Given the description of an element on the screen output the (x, y) to click on. 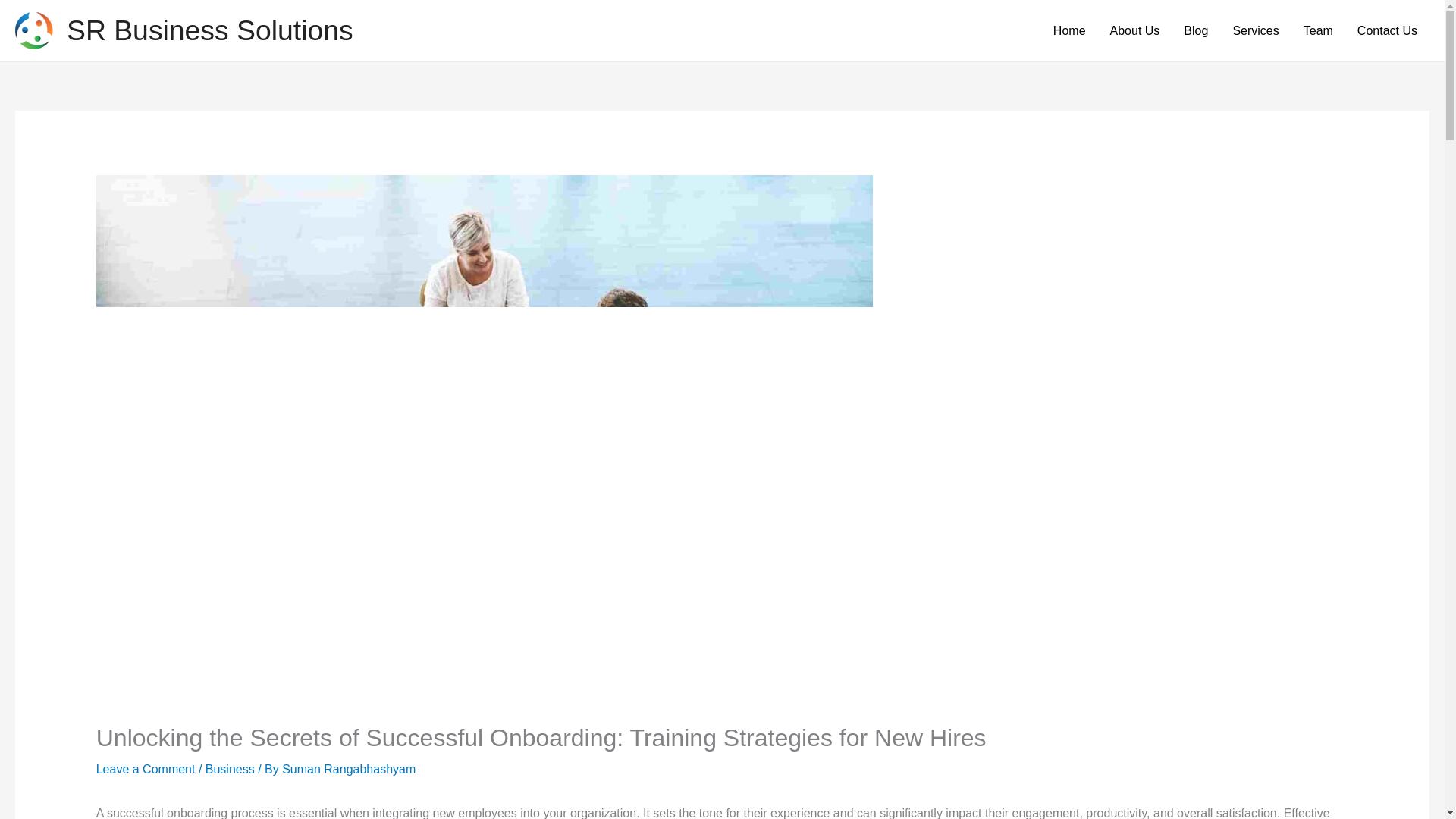
Contact Us (1387, 30)
Team (1318, 30)
SR Business Solutions (209, 29)
Blog (1196, 30)
About Us (1134, 30)
View all posts by Suman Rangabhashyam (348, 768)
Services (1255, 30)
Home (1069, 30)
